Given the description of an element on the screen output the (x, y) to click on. 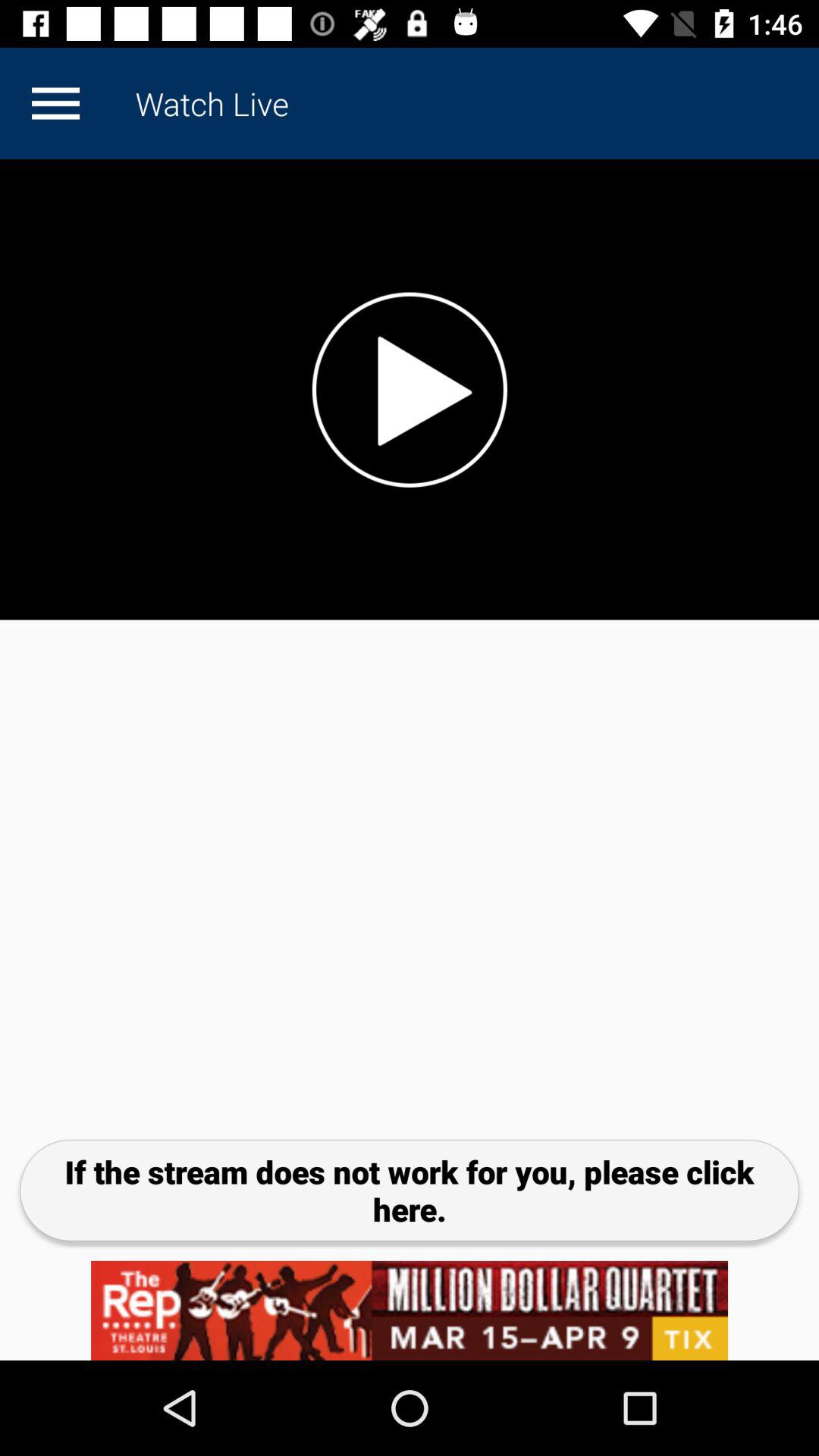
watch the video (409, 389)
